Given the description of an element on the screen output the (x, y) to click on. 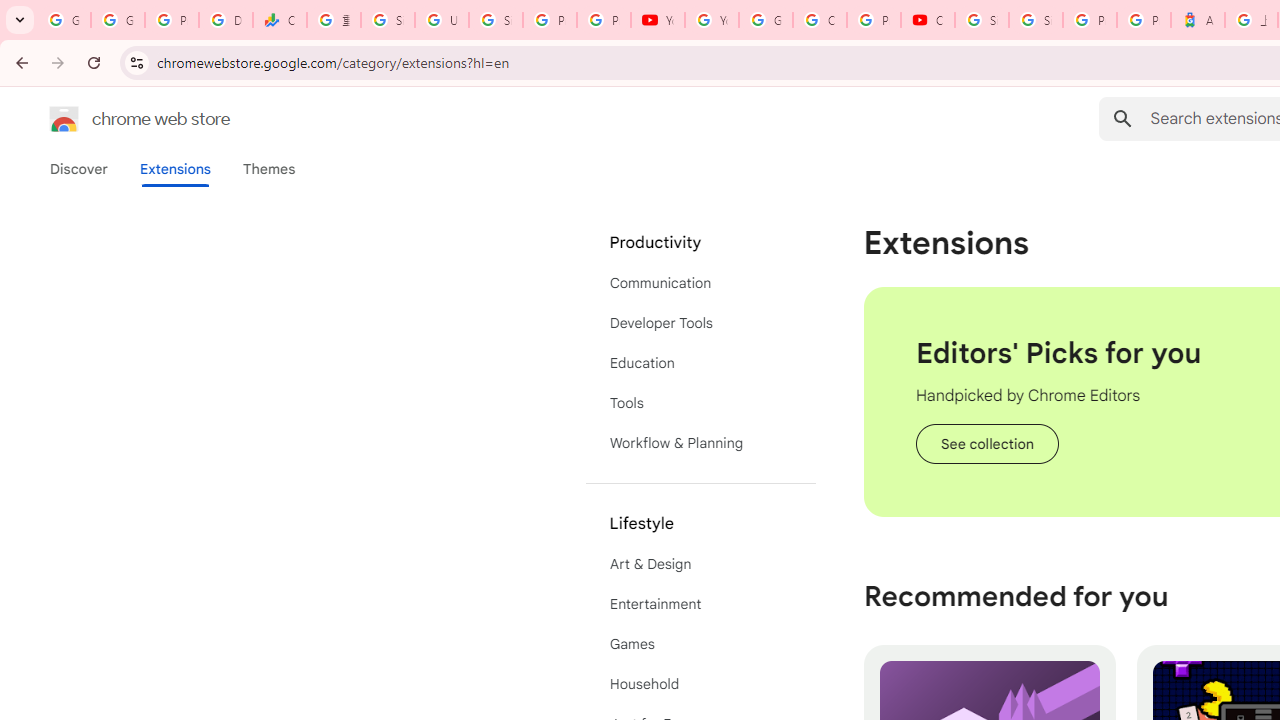
See the "Editors' Picks extensions" collection (986, 443)
Content Creator Programs & Opportunities - YouTube Creators (927, 20)
Currencies - Google Finance (280, 20)
Entertainment (700, 603)
Art & Design (700, 563)
Communication (700, 282)
Sign in - Google Accounts (495, 20)
Sign in - Google Accounts (981, 20)
Sign in - Google Accounts (387, 20)
Tools (700, 403)
